Given the description of an element on the screen output the (x, y) to click on. 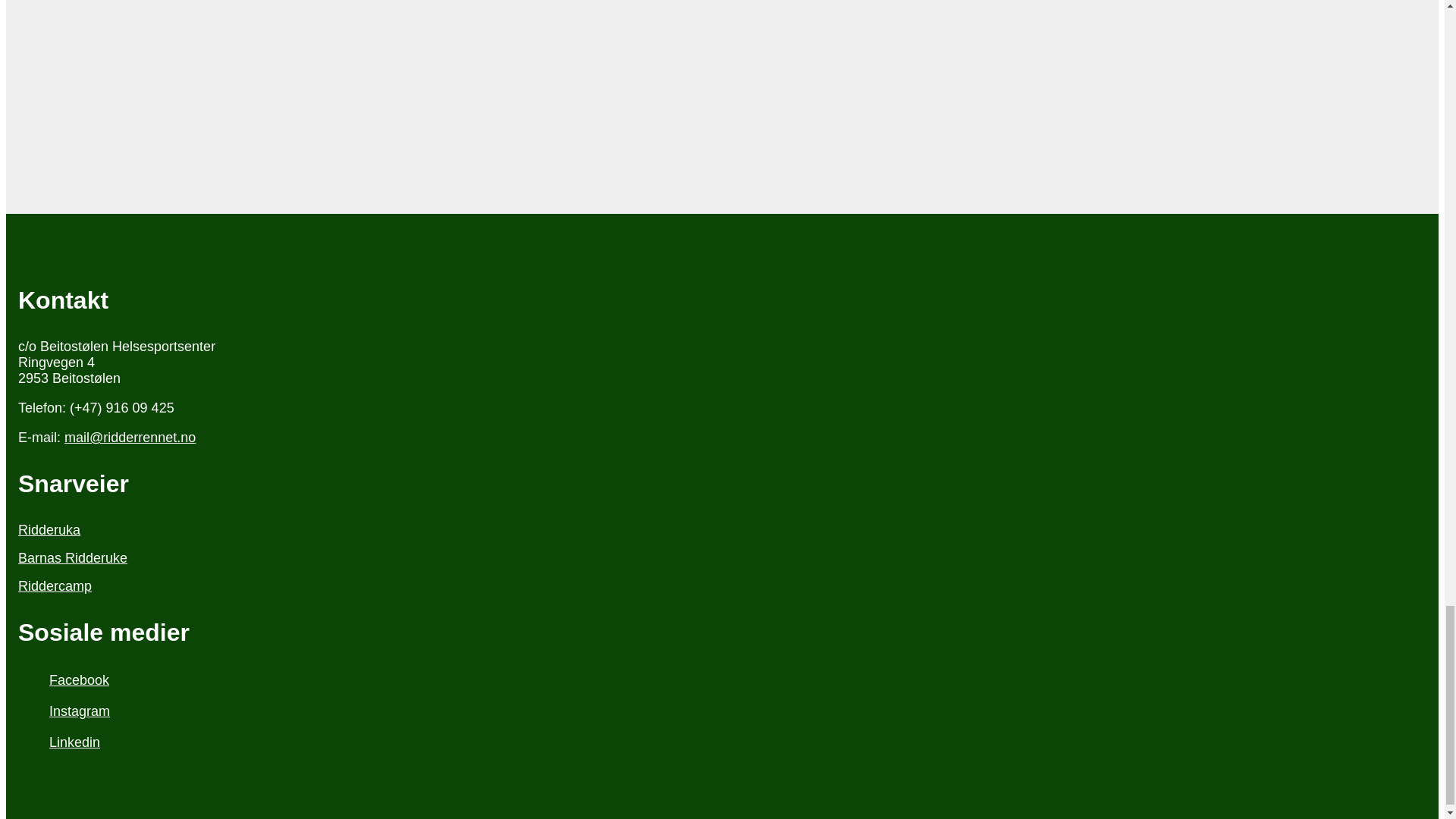
Barnas Ridderuke (721, 558)
Linkedin (721, 742)
Riddercamp (721, 586)
Facebook (721, 680)
Instagram (721, 711)
